Given the description of an element on the screen output the (x, y) to click on. 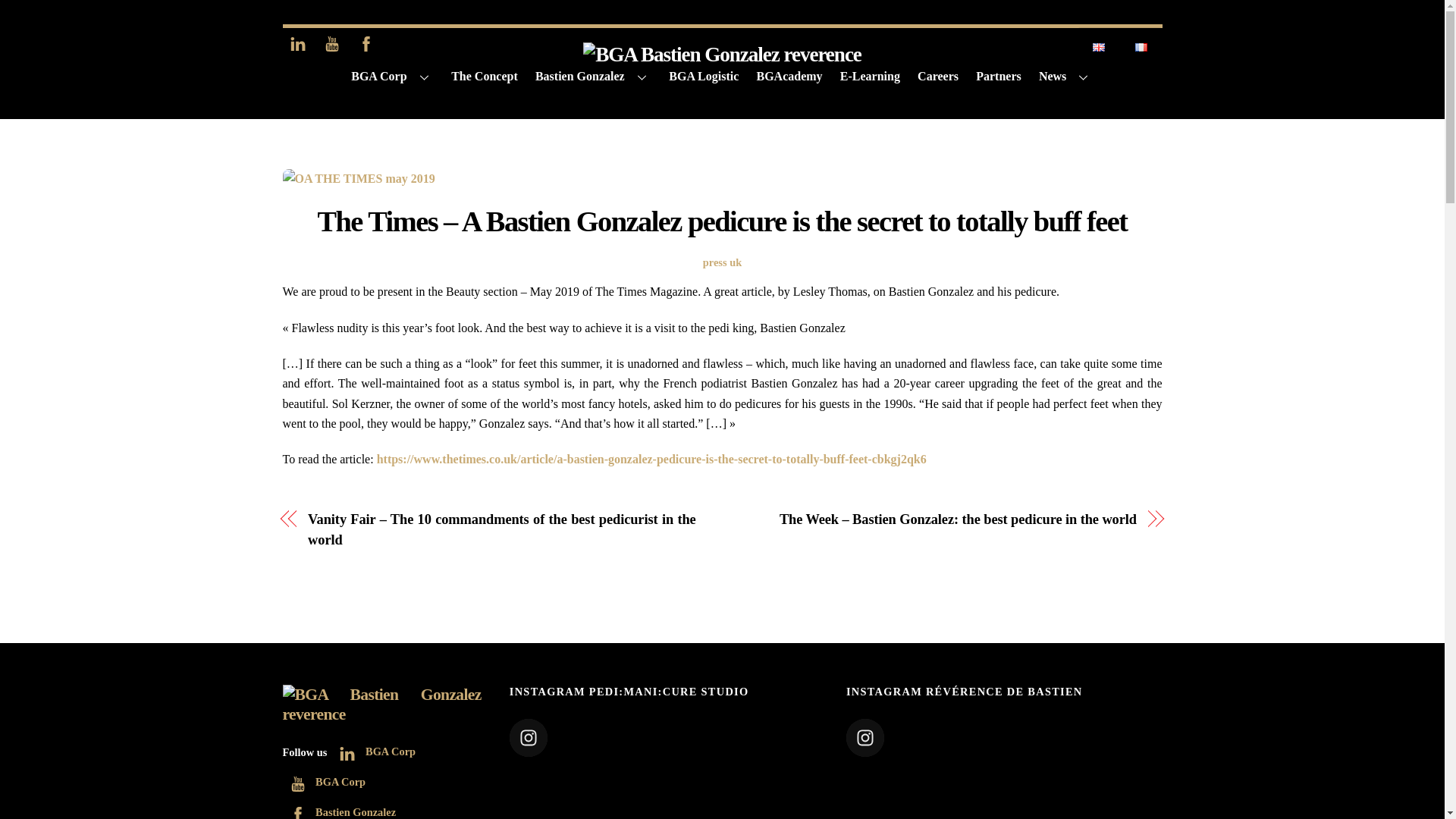
press uk (722, 262)
Logo-BGA1-blc (381, 704)
Logo-BGA1-blc (722, 54)
BGA Corp (381, 714)
The Concept (484, 76)
Careers (937, 76)
BGA Corp (323, 781)
BGA Corp (722, 54)
E-Learning (869, 76)
Bastien Gonzalez (592, 76)
News (1065, 76)
BGAcademy (789, 76)
BGA Corp (392, 76)
Bastien Gonzalez (339, 811)
